Given the description of an element on the screen output the (x, y) to click on. 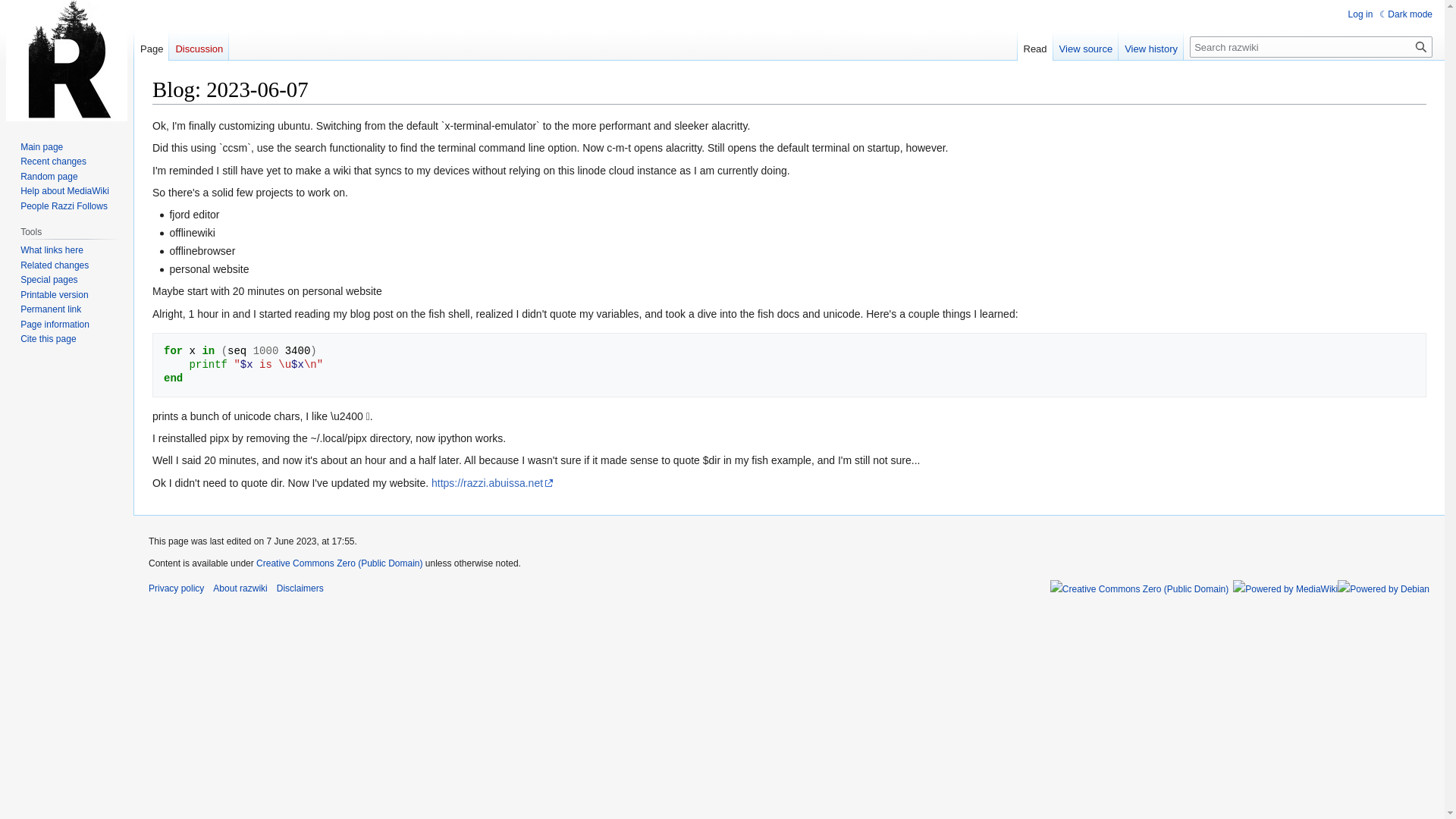
Go (1420, 46)
Search (1420, 46)
About razwiki (239, 588)
Log in (1360, 14)
Search (1420, 46)
Dark mode (1405, 14)
Discussion (198, 45)
Printable version (53, 294)
Permanent link (50, 308)
Page (150, 45)
Special pages (48, 279)
Cite this page (47, 338)
Page information (54, 324)
Go (1420, 46)
Visit the main page (66, 60)
